Given the description of an element on the screen output the (x, y) to click on. 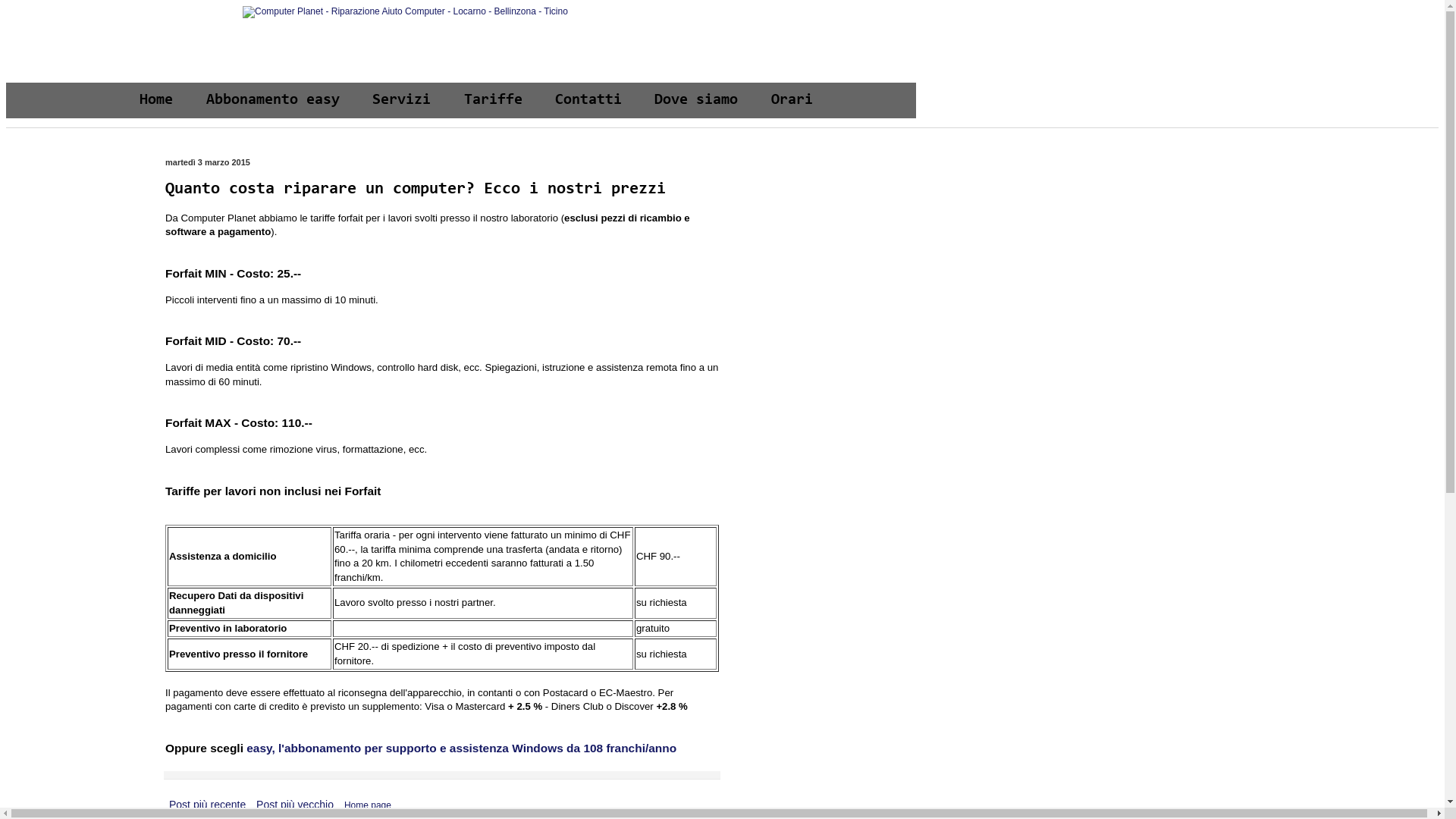
Home Element type: text (156, 100)
Abbonamento easy Element type: text (272, 100)
Contatti Element type: text (588, 100)
Servizi Element type: text (401, 100)
Home page Element type: text (367, 805)
Dove siamo Element type: text (696, 100)
Orari Element type: text (792, 100)
Tariffe Element type: text (492, 100)
